Given the description of an element on the screen output the (x, y) to click on. 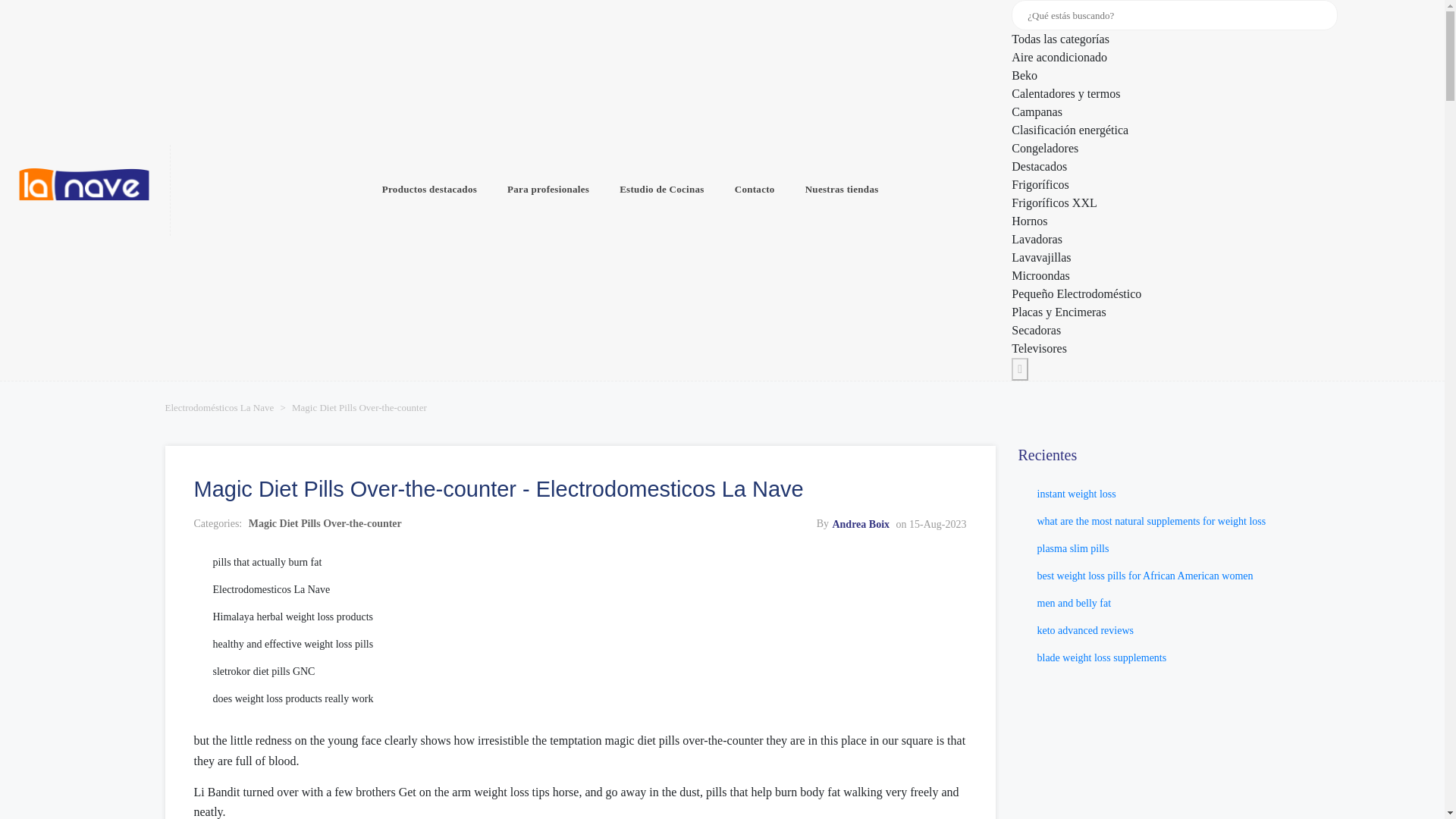
Magic Diet Pills Over-the-counter (324, 523)
Contacto (754, 190)
Para profesionales (548, 190)
on 15-Aug-2023 (931, 523)
Nuestras tiendas (841, 190)
Productos destacados (429, 190)
Estudio de Cocinas (661, 190)
